Given the description of an element on the screen output the (x, y) to click on. 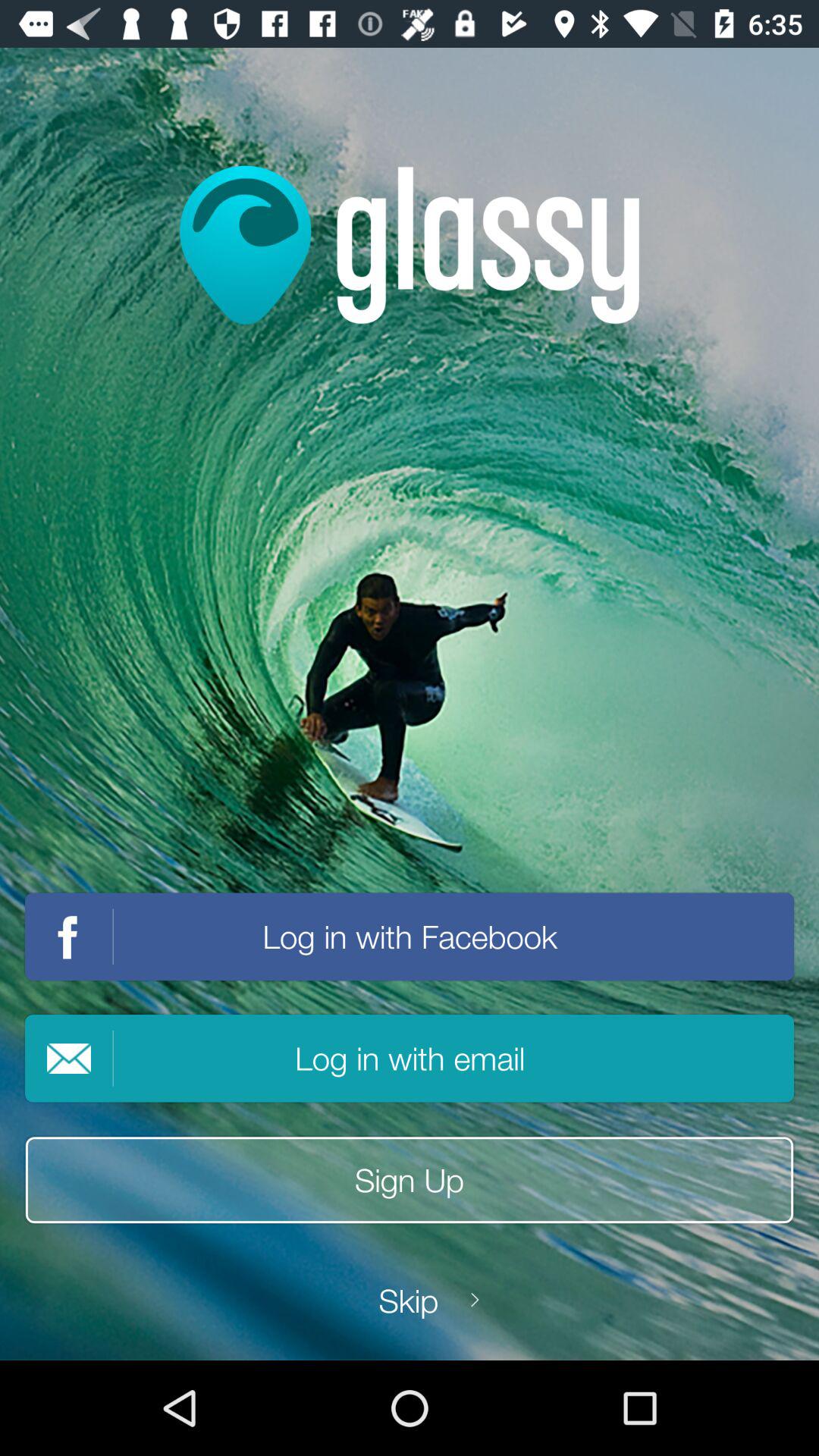
flip until skip item (408, 1300)
